Given the description of an element on the screen output the (x, y) to click on. 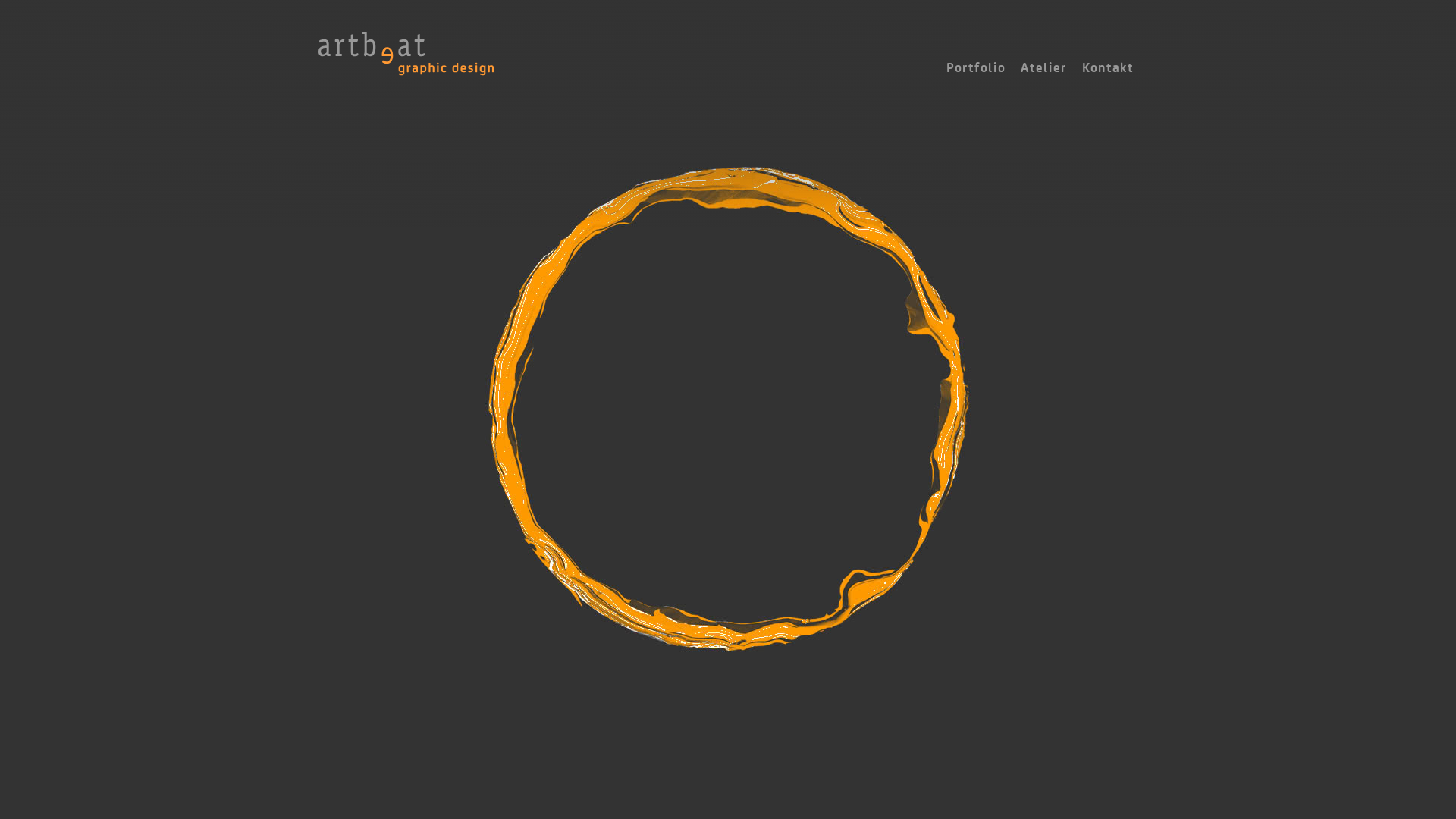
Kontakt Element type: text (1107, 67)
